Given the description of an element on the screen output the (x, y) to click on. 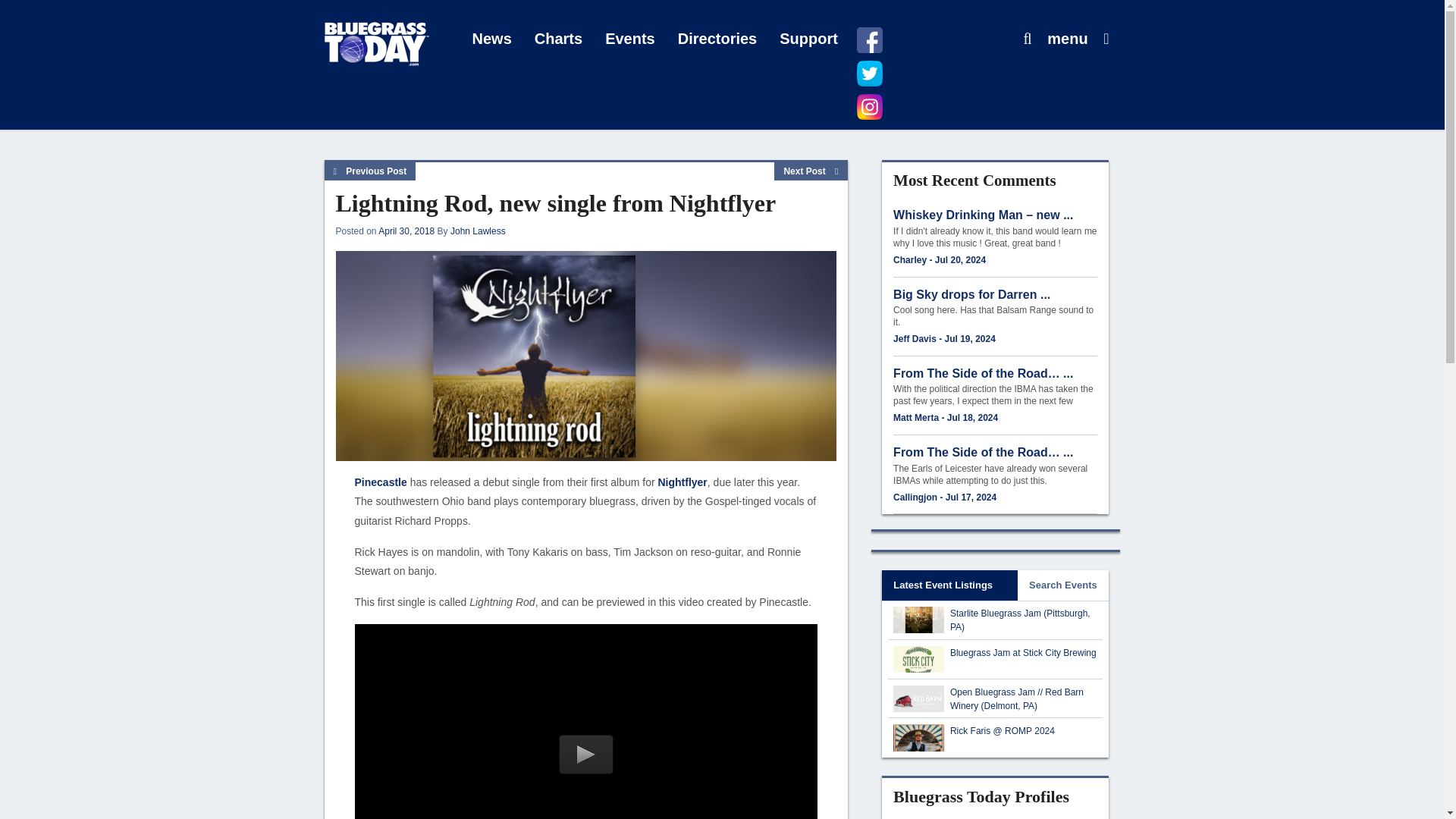
April 30, 2018 (405, 231)
Nightflyer (682, 481)
Charts (558, 39)
Events (630, 39)
News (491, 39)
Support (808, 39)
Directories (717, 39)
Pinecastle (381, 481)
menu (1066, 39)
Next Post (810, 171)
Previous Post (370, 171)
John Lawless (477, 231)
